Given the description of an element on the screen output the (x, y) to click on. 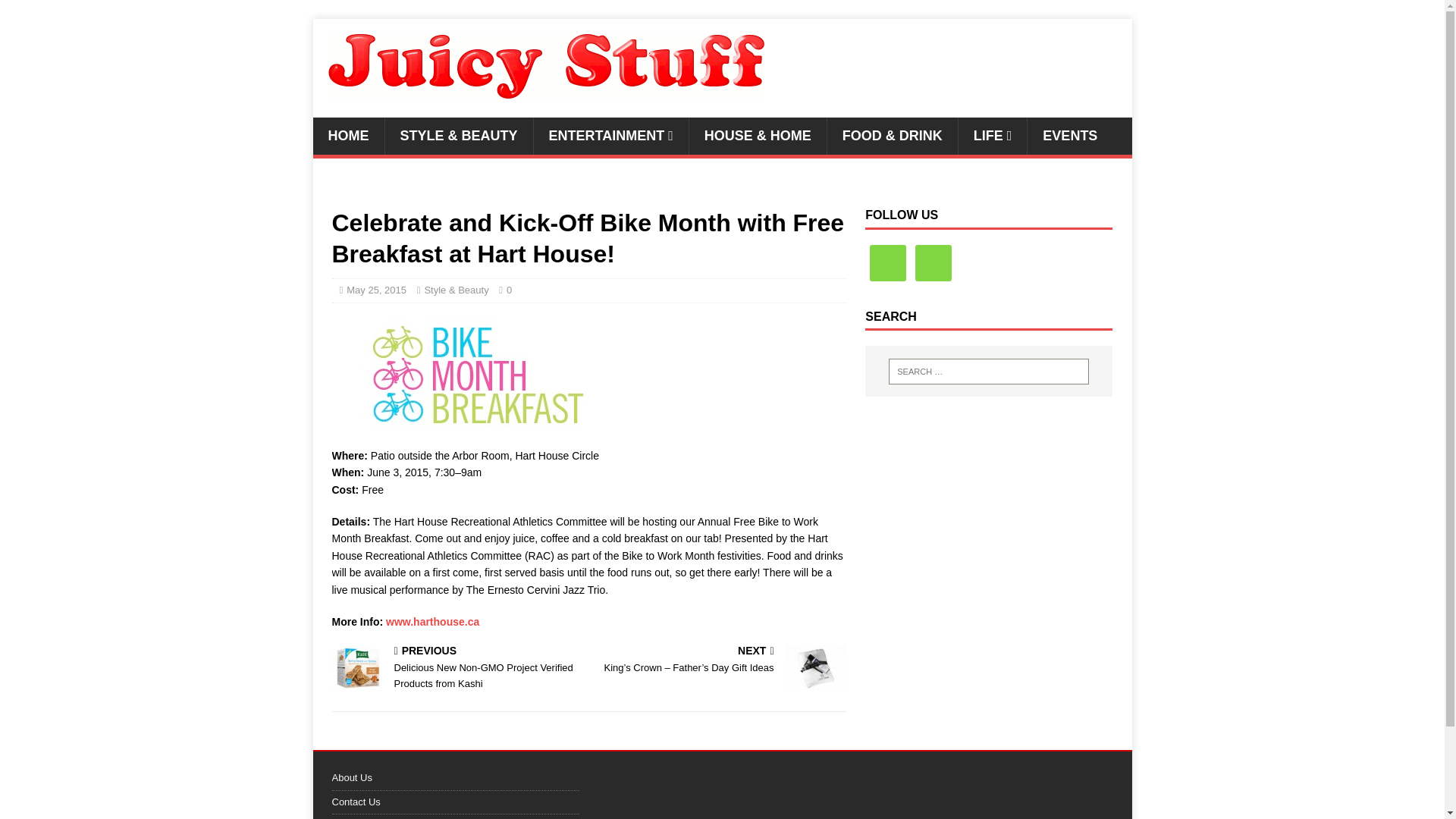
May 25, 2015 (376, 289)
LIFE (992, 135)
HOME (348, 135)
www.harthouse.ca (432, 621)
Harthouse Breakfast (588, 375)
EVENTS (1069, 135)
ENTERTAINMENT (610, 135)
